Given the description of an element on the screen output the (x, y) to click on. 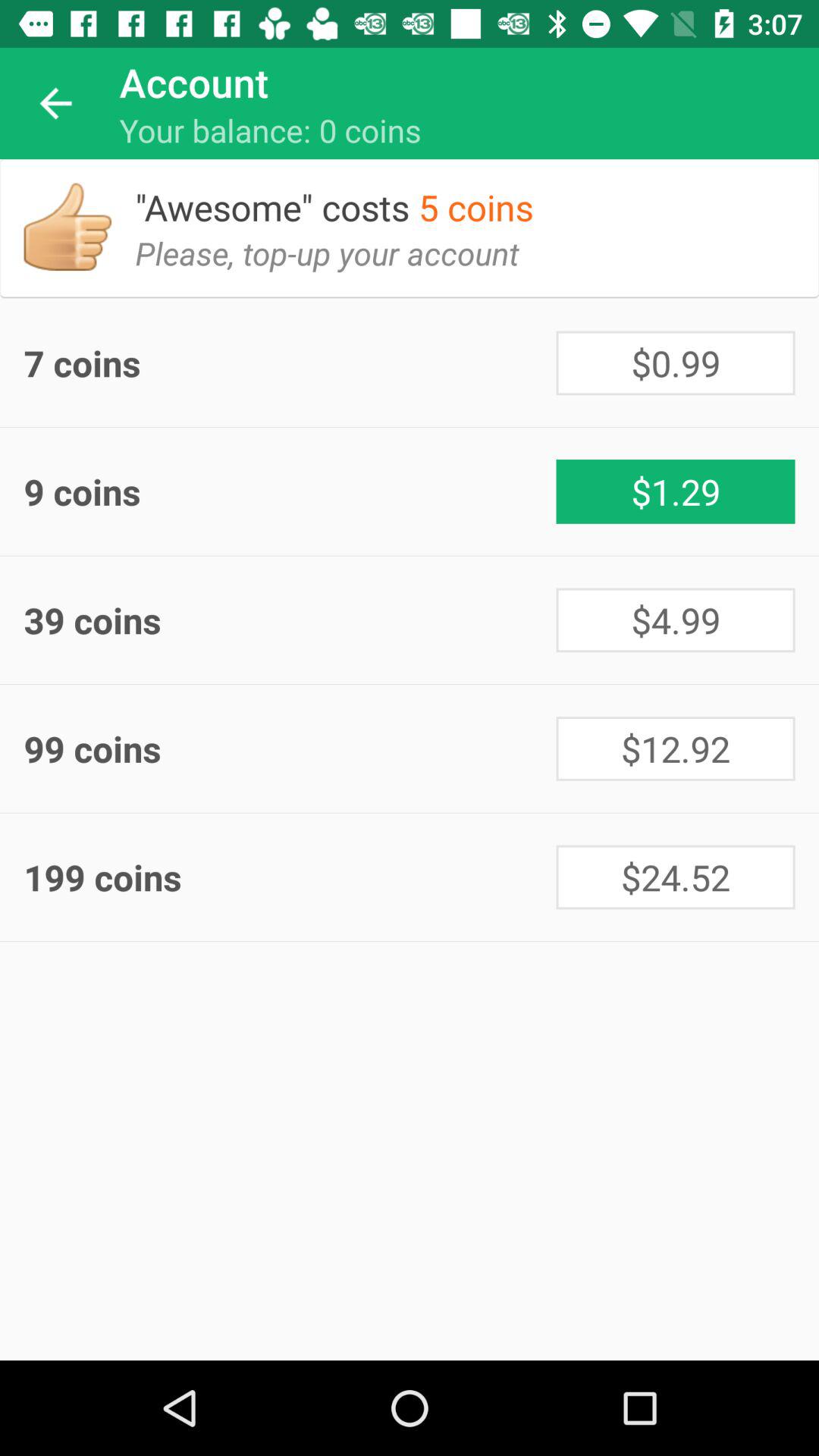
press the icon next to the 9 coins icon (675, 491)
